Given the description of an element on the screen output the (x, y) to click on. 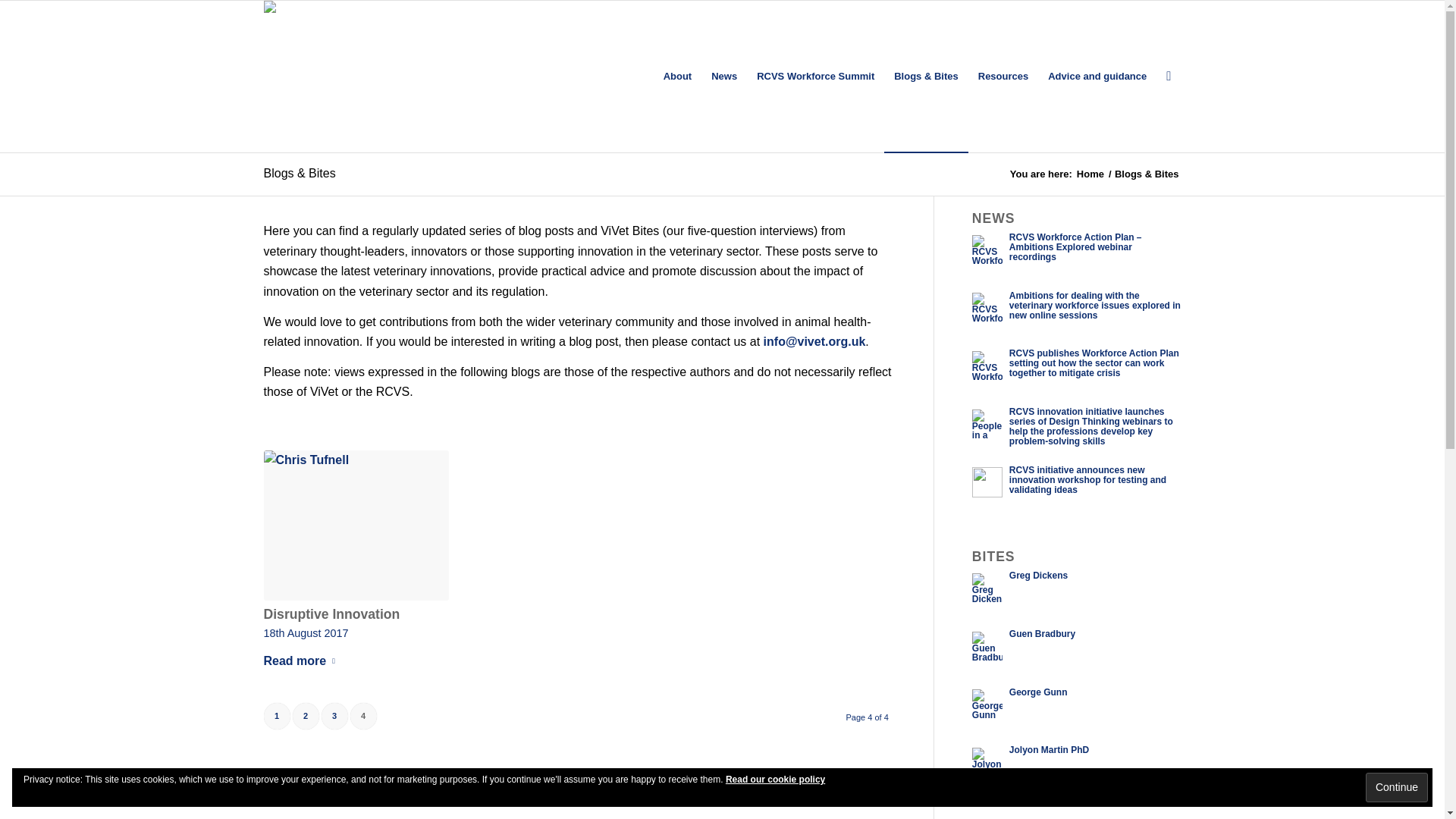
Home (1090, 173)
Read more (301, 661)
3 (334, 715)
George Gunn (1038, 692)
Continue (1396, 787)
Disruptive Innovation (355, 525)
RCVS Workforce Summit (814, 76)
